Given the description of an element on the screen output the (x, y) to click on. 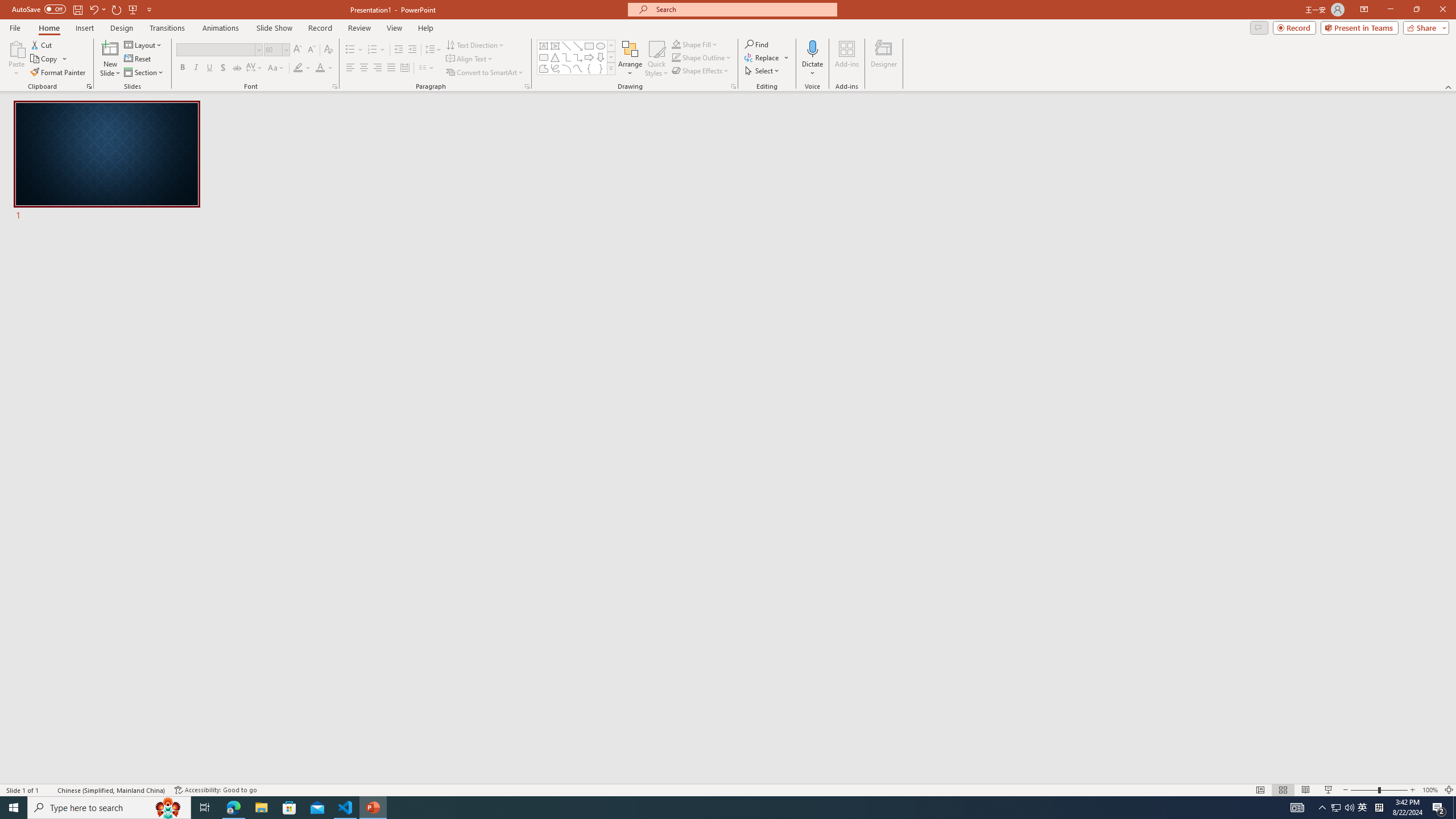
Accessibility Checker Accessibility: Good to go (216, 790)
